Given the description of an element on the screen output the (x, y) to click on. 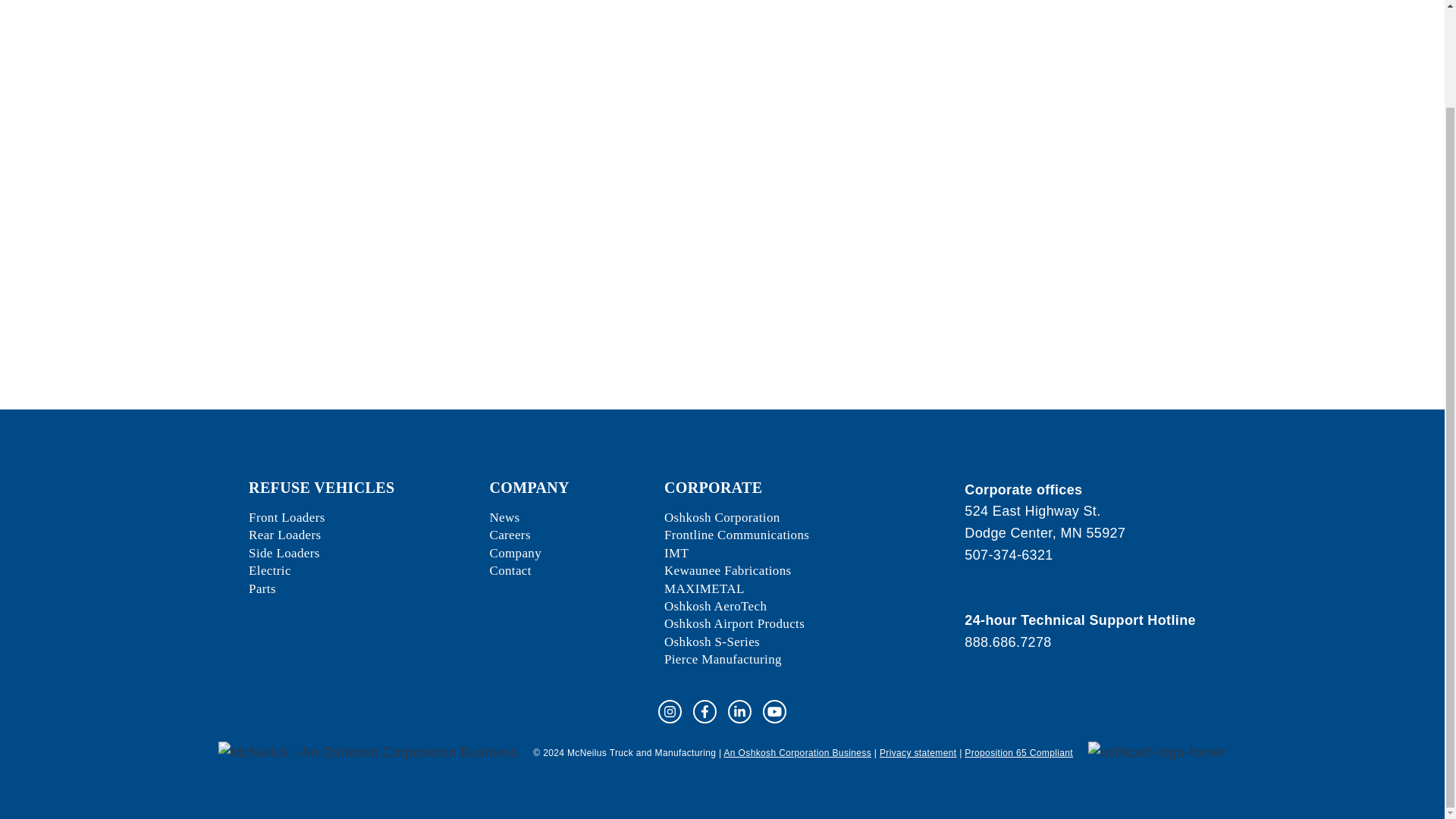
Front Loaders (286, 517)
REFUSE VEHICLES (321, 487)
